Given the description of an element on the screen output the (x, y) to click on. 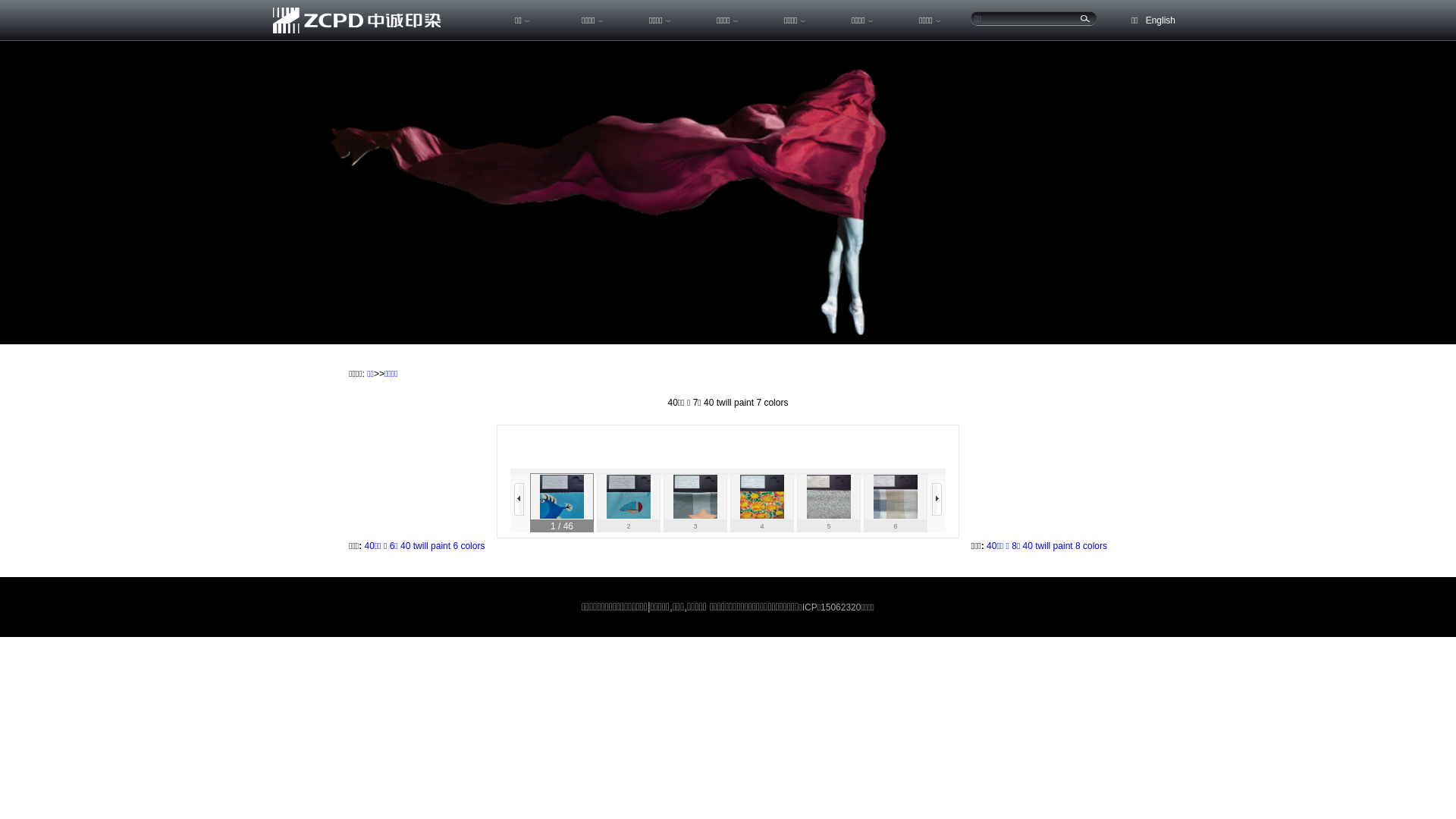
English Element type: text (1160, 20)
5 Element type: text (828, 503)
1 / 46 Element type: text (561, 503)
6 Element type: text (895, 503)
2 Element type: text (628, 503)
4 Element type: text (761, 503)
3 Element type: text (695, 503)
